Given the description of an element on the screen output the (x, y) to click on. 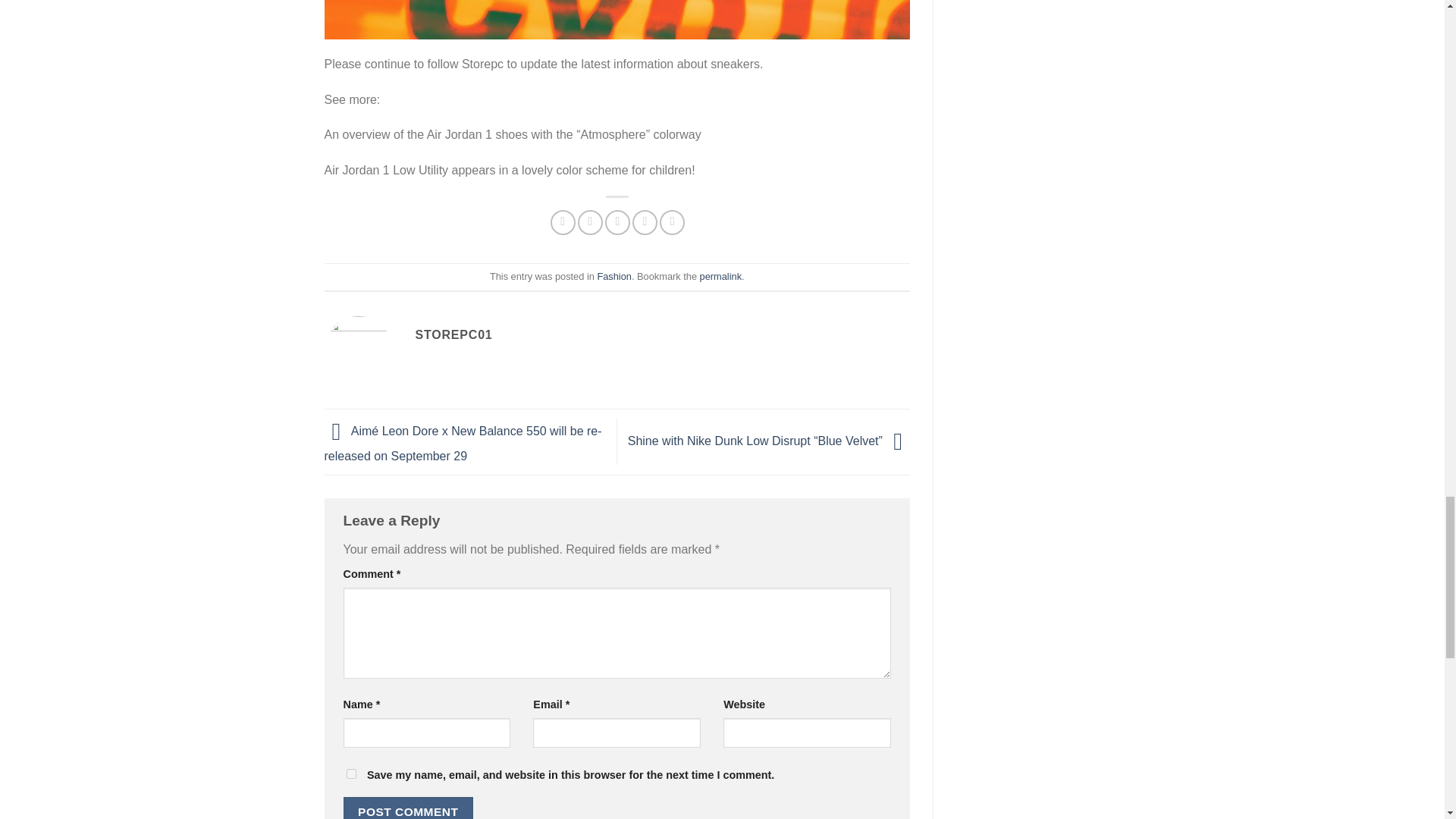
permalink (720, 276)
Email to a Friend (617, 222)
Fashion (613, 276)
Share on LinkedIn (671, 222)
yes (350, 773)
Post Comment (407, 807)
Share on Twitter (590, 222)
Share on Facebook (562, 222)
Post Comment (407, 807)
Pin on Pinterest (644, 222)
